Given the description of an element on the screen output the (x, y) to click on. 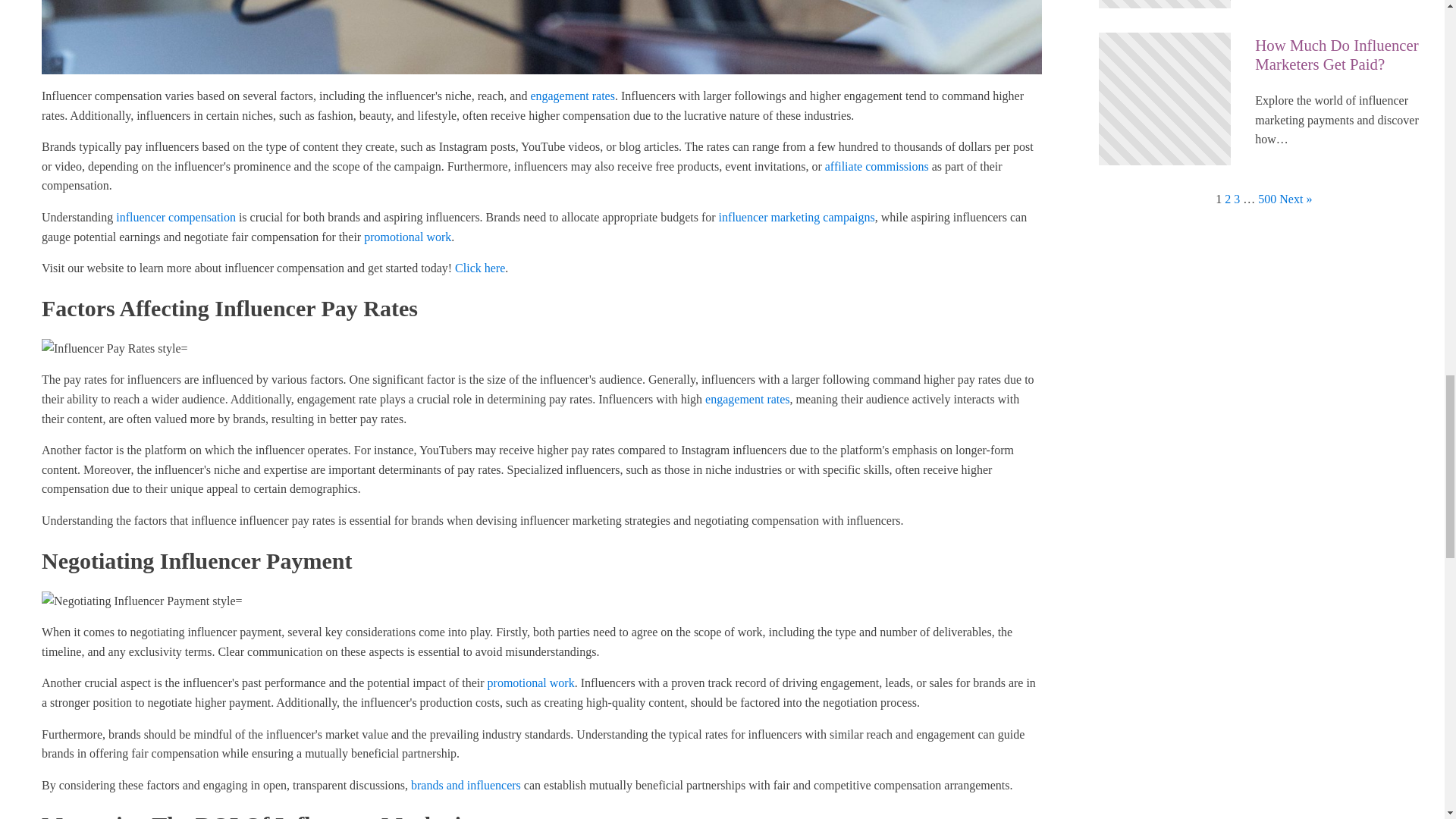
influencer compensation (175, 216)
500 (1266, 198)
influencer marketing campaigns (797, 216)
brands and influencers (465, 784)
engagement rates (571, 95)
affiliate commissions (876, 165)
Click here (479, 267)
promotional work (531, 682)
engagement rates (747, 399)
promotional work (407, 236)
How Much Do Influencer Marketers Get Paid? (1342, 55)
